Given the description of an element on the screen output the (x, y) to click on. 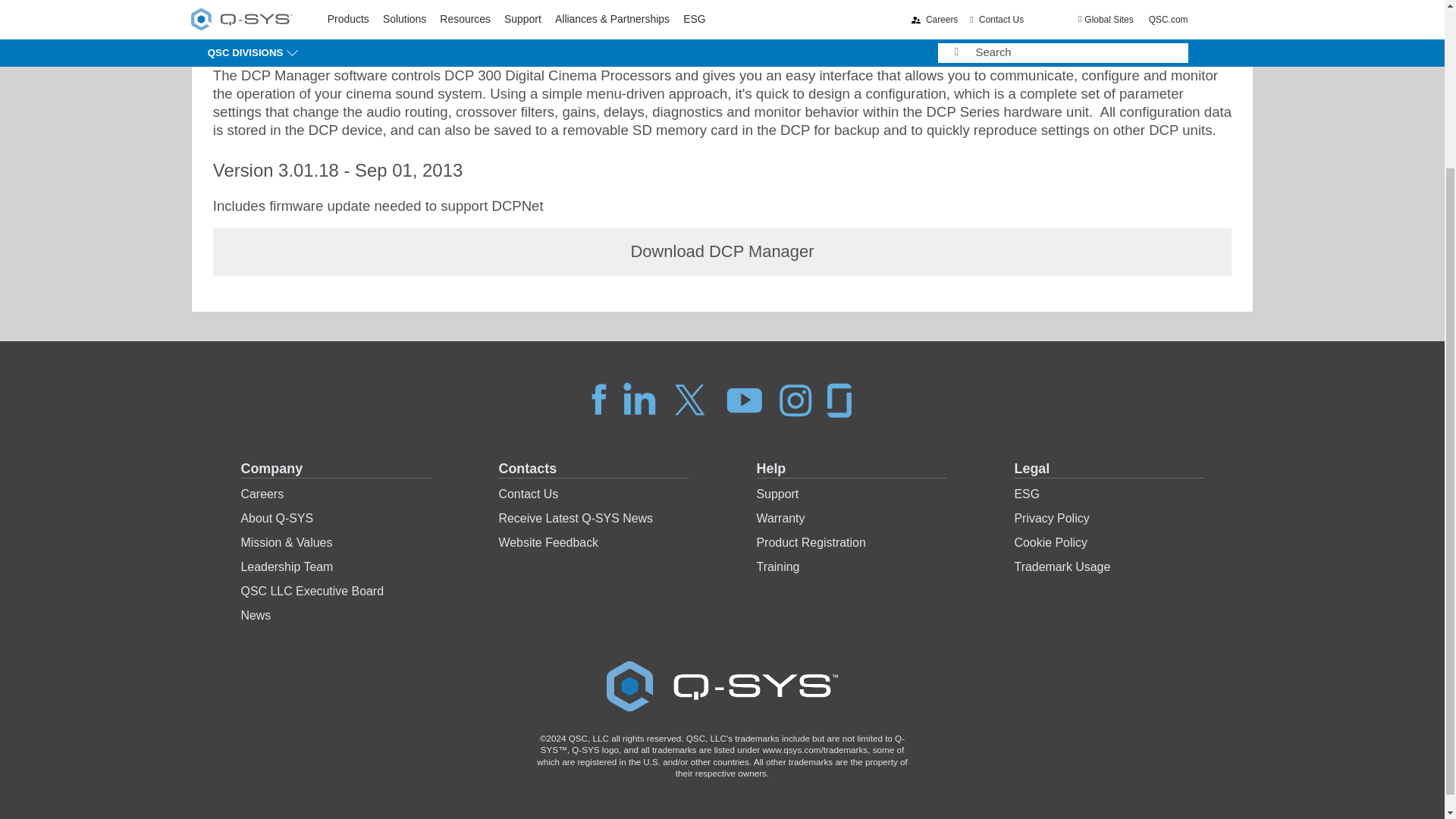
YouTube logo (744, 399)
LinkedIn logo (638, 399)
Q-SYS logo (722, 685)
Twitter logo (690, 399)
Instagram logo (795, 399)
